Given the description of an element on the screen output the (x, y) to click on. 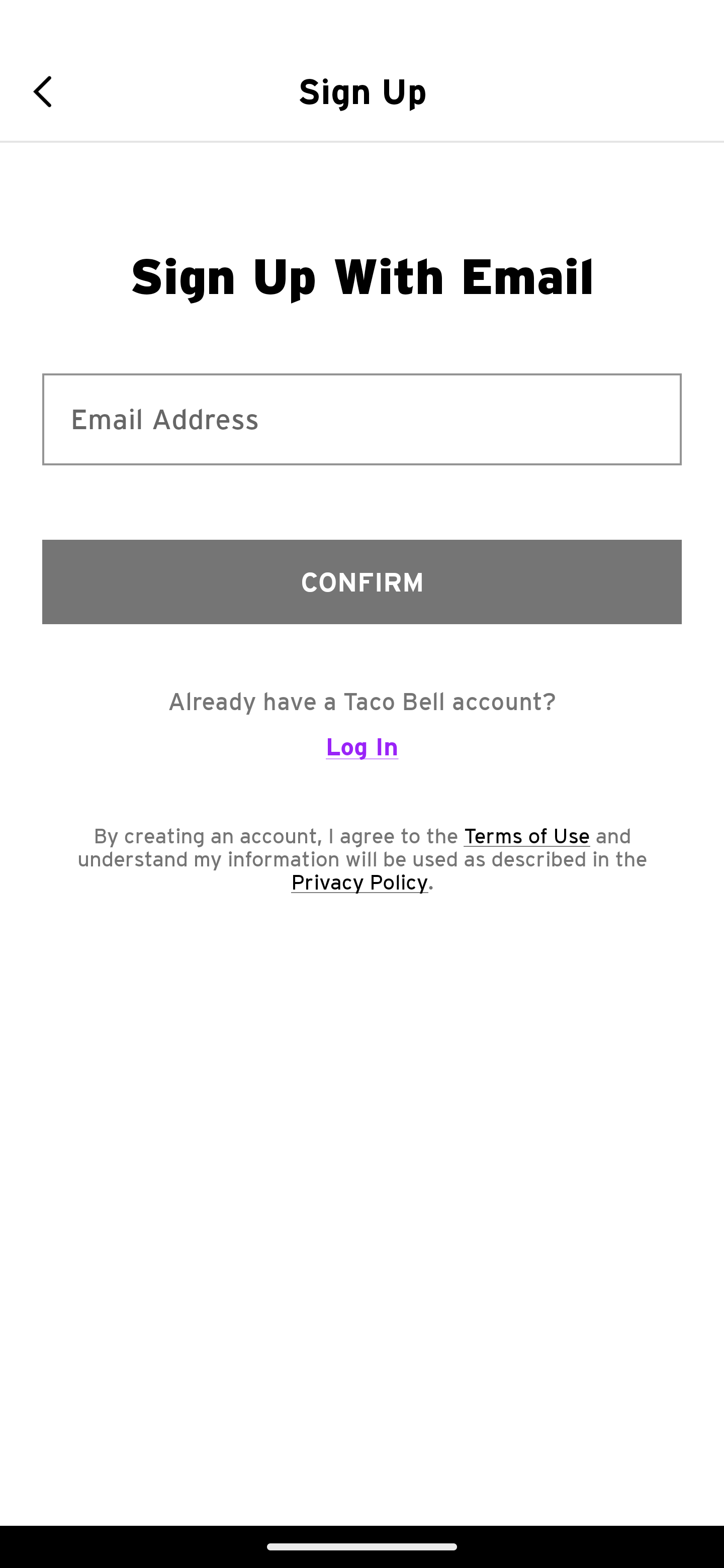
Navigate up (49, 91)
Email Address (361, 419)
CONFIRM (361, 581)
Log In (361, 754)
